Given the description of an element on the screen output the (x, y) to click on. 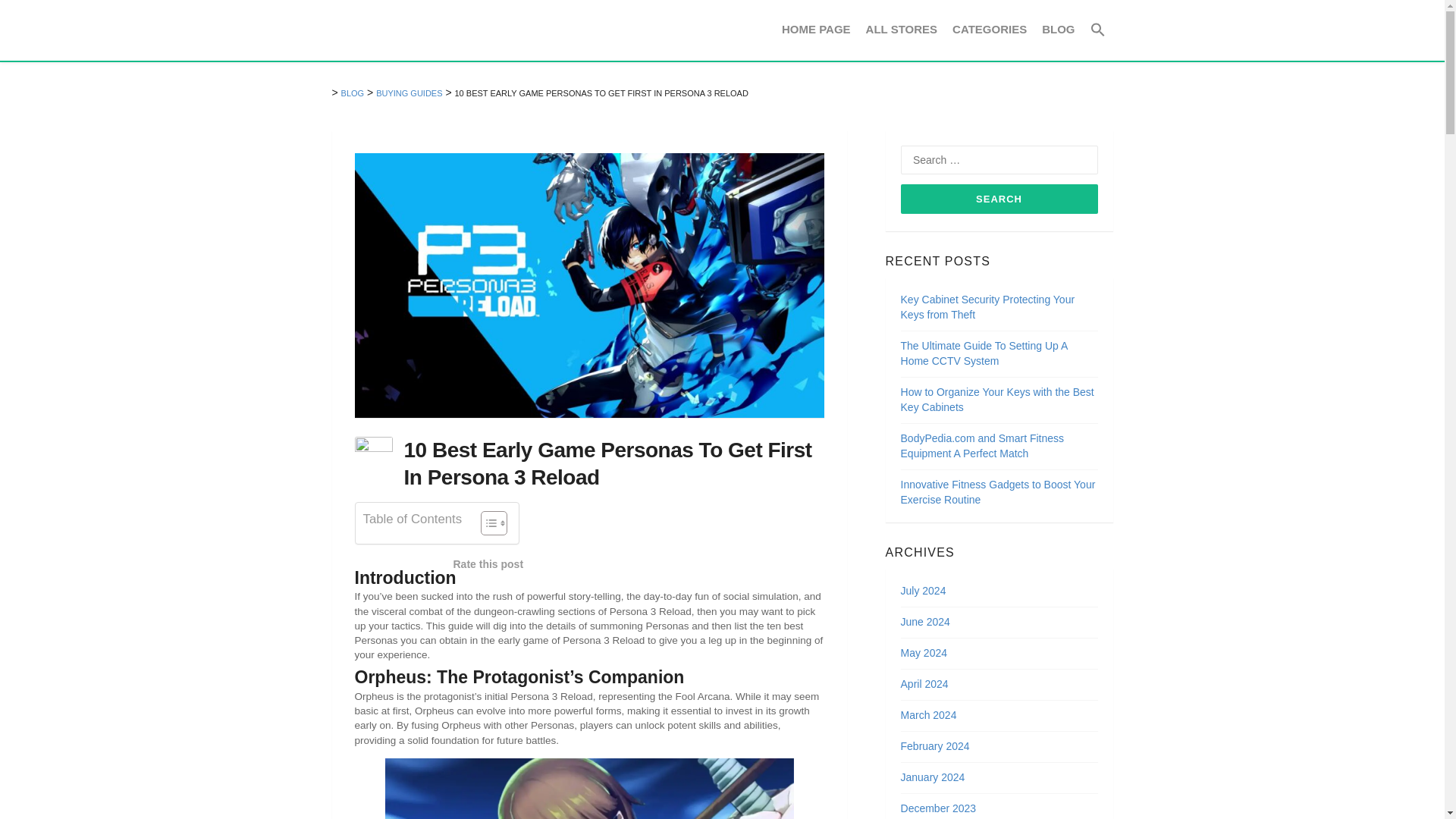
BodyPedia.com and Smart Fitness Equipment A Perfect Match (982, 445)
BUYING GUIDES (408, 92)
How to Organize Your Keys with the Best Key Cabinets (997, 399)
The Ultimate Guide To Setting Up A Home CCTV System (984, 352)
Search (999, 198)
BLOG (1057, 29)
Key Cabinet Security Protecting Your Keys from Theft (988, 307)
Go to the Buying Guides Category archives. (408, 92)
July 2024 (923, 590)
CATEGORIES (988, 29)
